Given the description of an element on the screen output the (x, y) to click on. 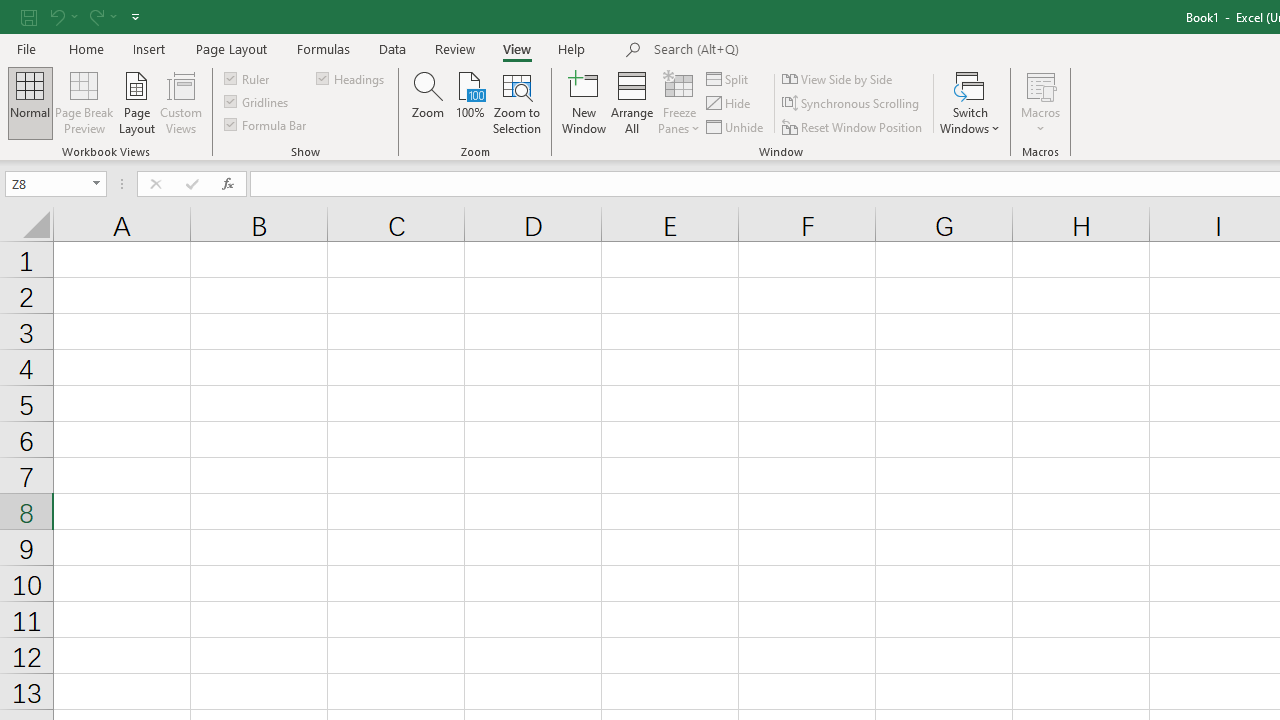
Macros (1040, 102)
Arrange All (632, 102)
Custom Views... (180, 102)
